Given the description of an element on the screen output the (x, y) to click on. 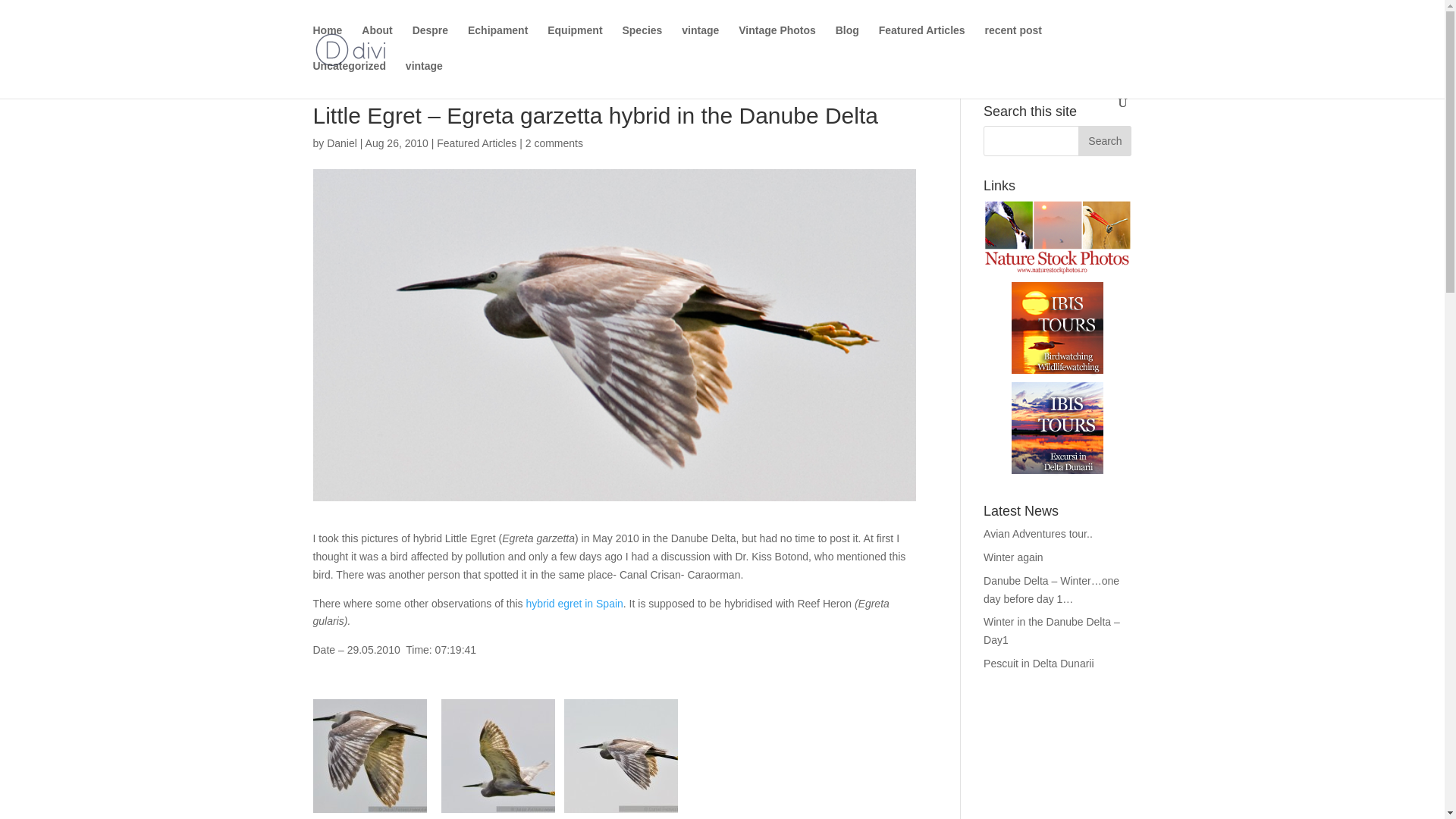
Avian Adventures tour.. (1038, 533)
vintage (700, 42)
Posts by Daniel (341, 143)
Echipament (497, 42)
Nature-Stock-Photos (1057, 236)
recent post (1012, 42)
Egreta garzetta hybrid 2 (369, 756)
Pescuit in Delta Dunarii (1039, 663)
Winter again (1013, 557)
Featured Articles (476, 143)
